Given the description of an element on the screen output the (x, y) to click on. 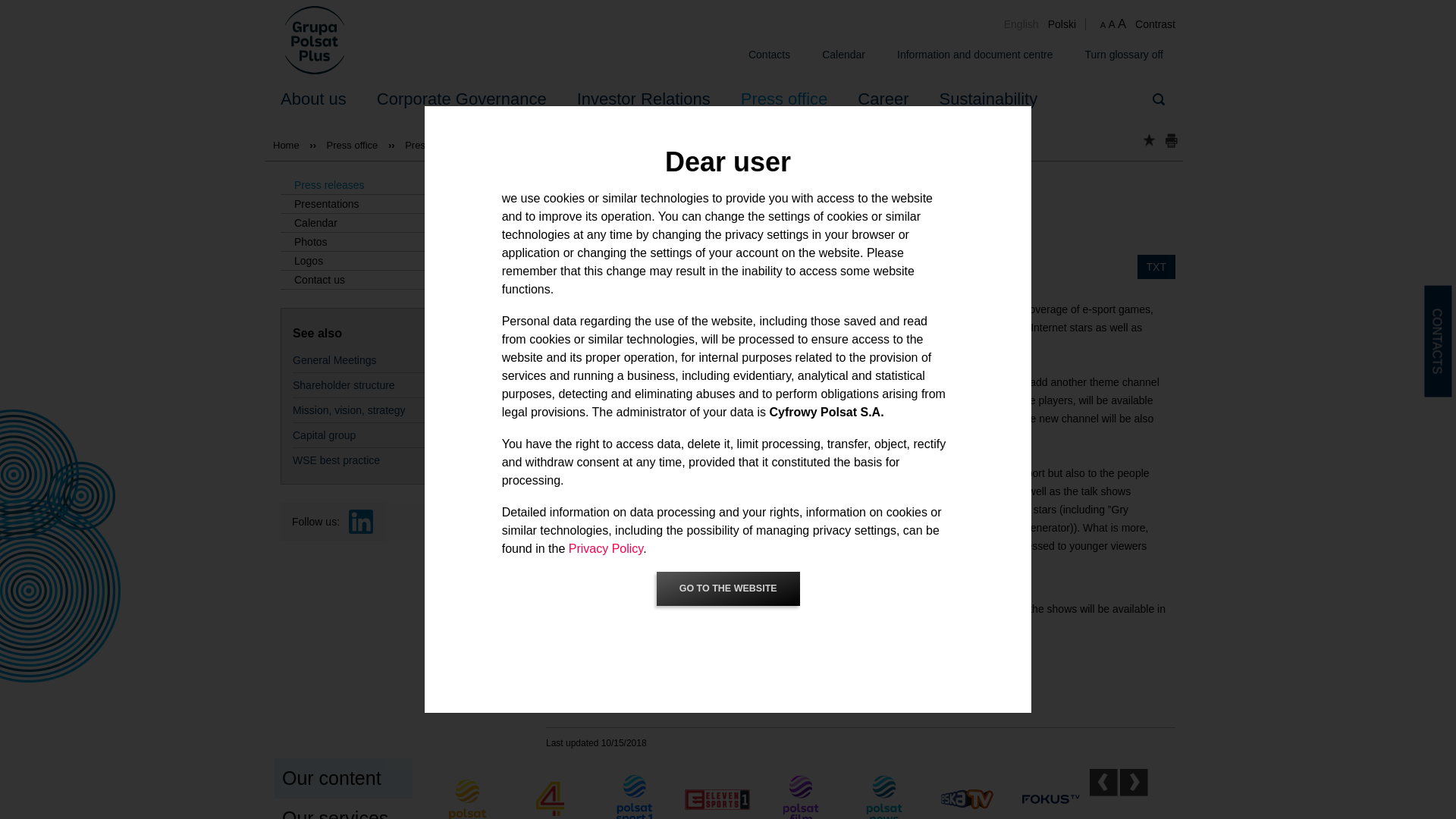
TV (552, 702)
TXT (1155, 266)
A (1121, 23)
Polsat Games takes off on October 15 (1026, 24)
A (1102, 24)
Home (315, 39)
Information and document centre (974, 54)
A (1111, 24)
English (1026, 24)
About us (312, 98)
Calendar (843, 54)
Contrast (1154, 24)
Standard font size (1111, 24)
Small font size (1102, 24)
Add to bookmarks (1148, 140)
